Given the description of an element on the screen output the (x, y) to click on. 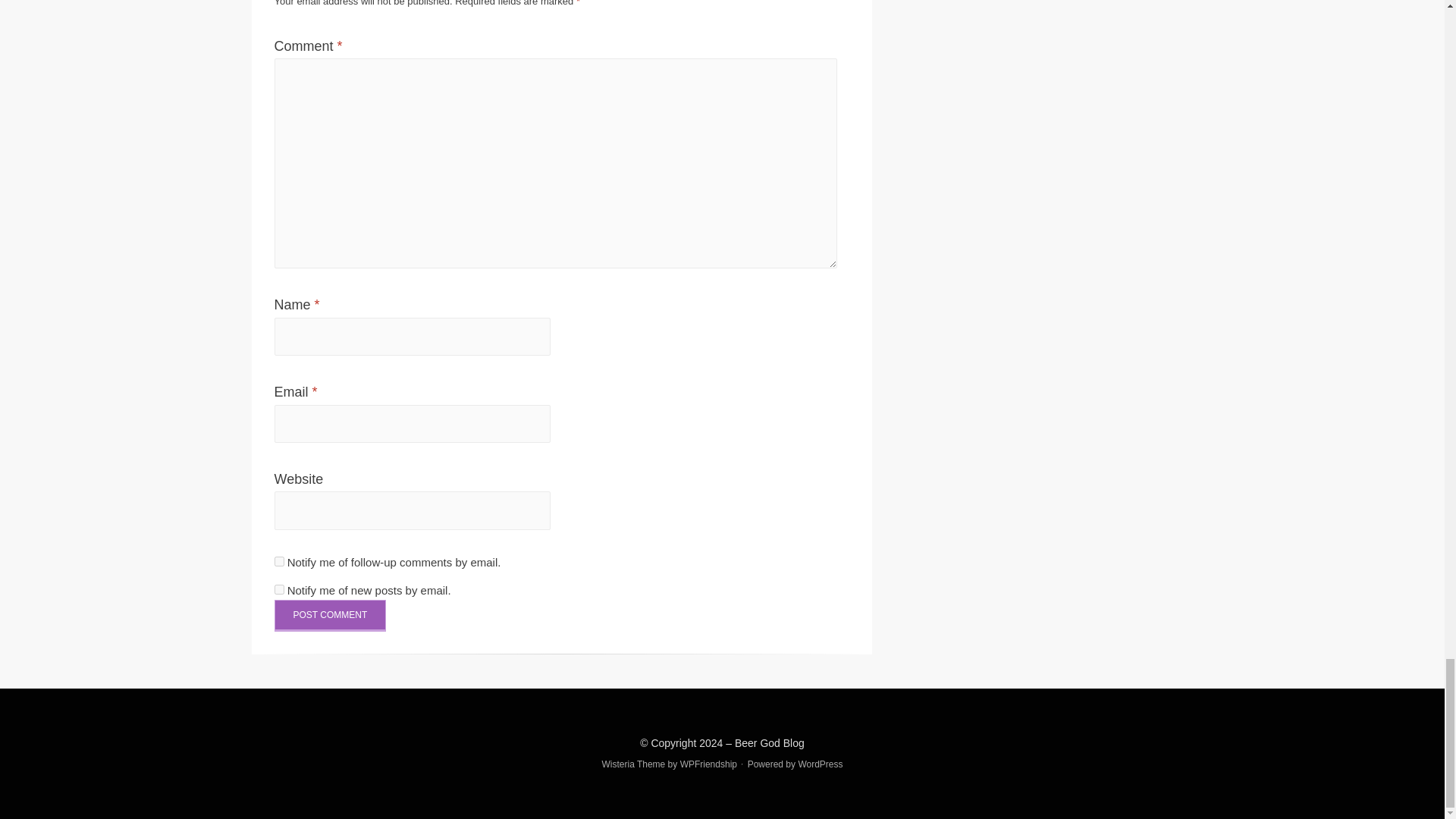
WPFriendship (707, 764)
WordPress (820, 764)
subscribe (279, 561)
subscribe (279, 589)
Post Comment (331, 615)
